Given the description of an element on the screen output the (x, y) to click on. 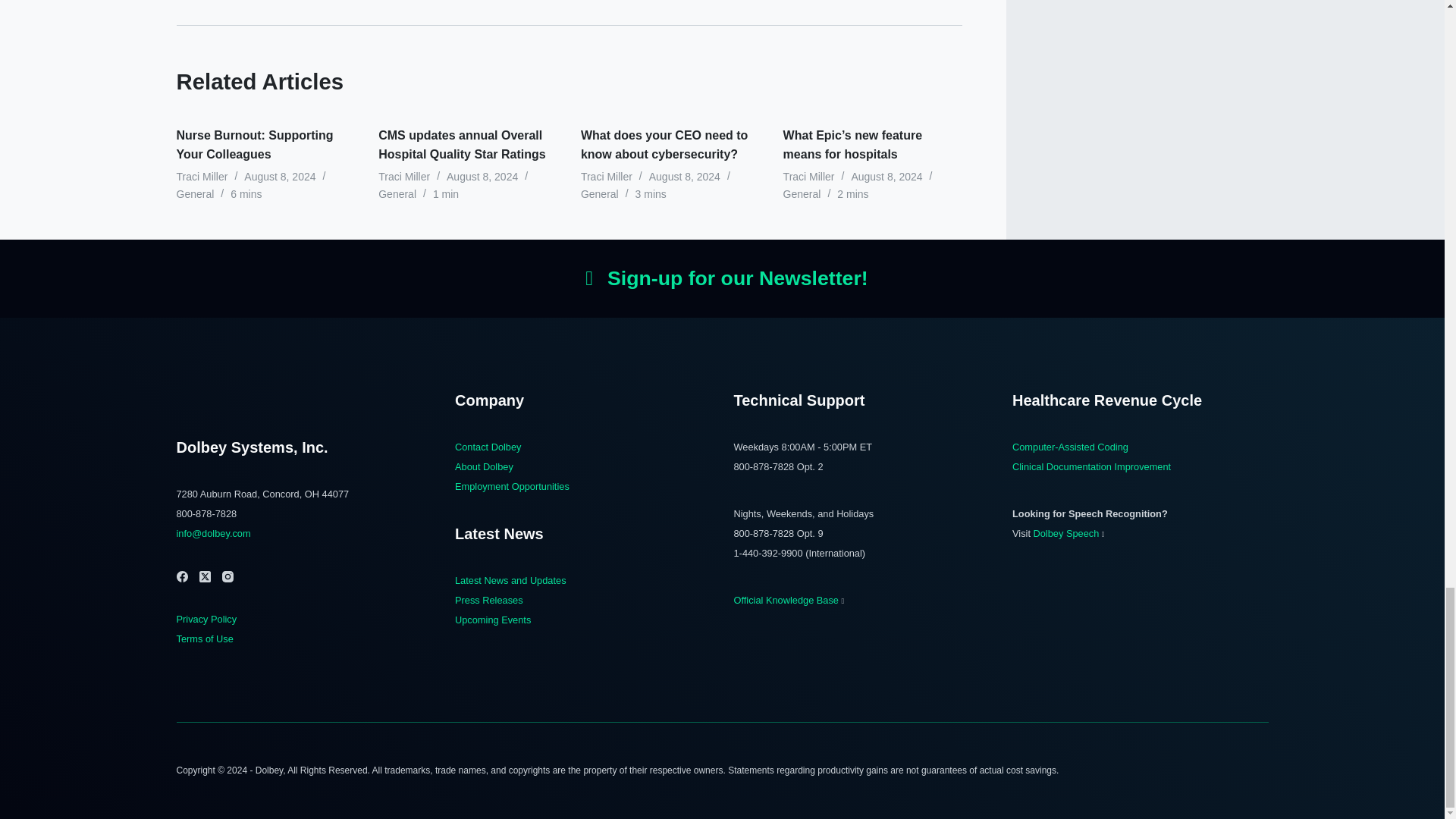
Posts by Traci Miller (403, 176)
Posts by Traci Miller (605, 176)
Posts by Traci Miller (201, 176)
Posts by Traci Miller (808, 176)
